Given the description of an element on the screen output the (x, y) to click on. 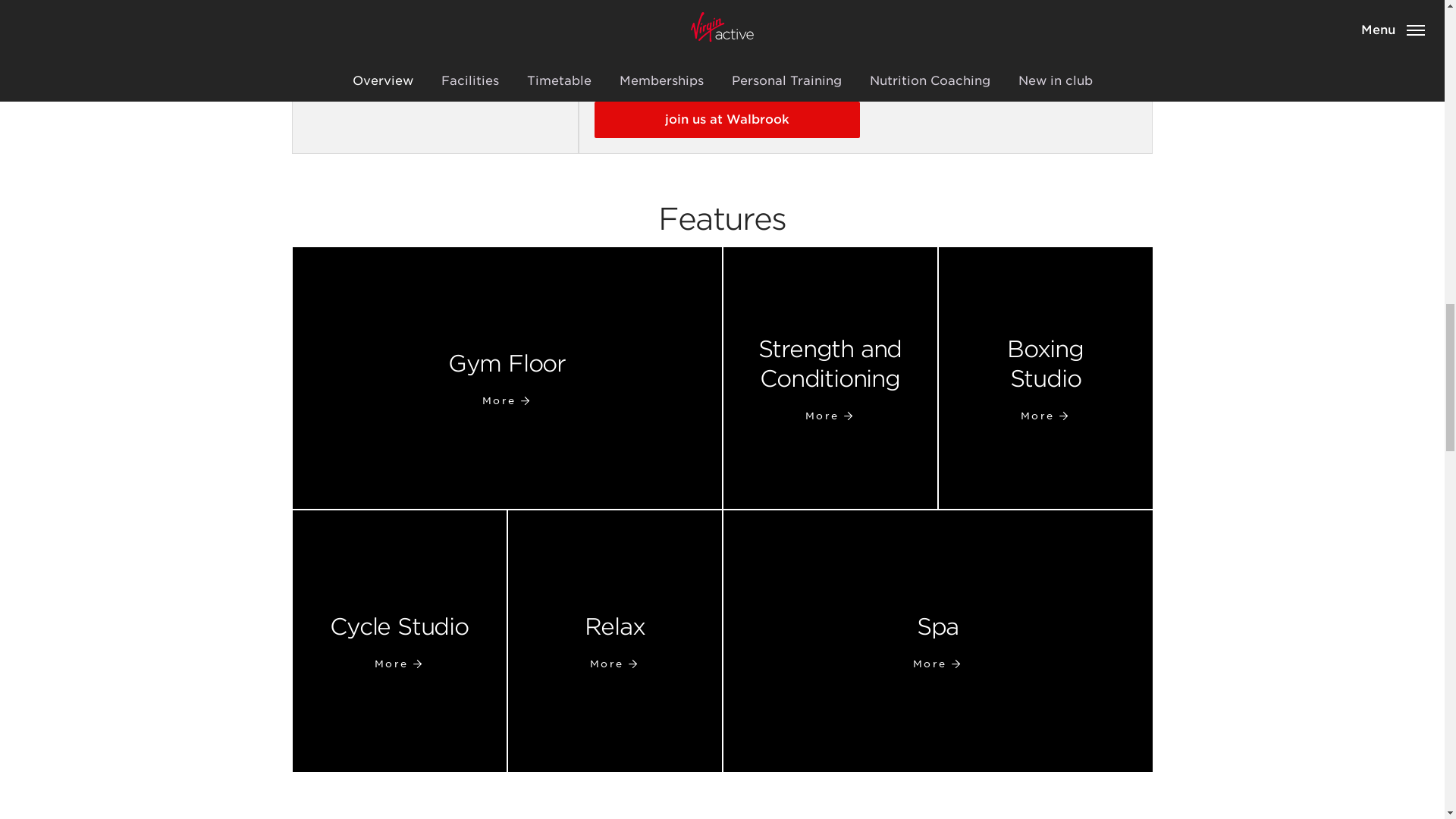
join us at Walbrook (938, 641)
